Given the description of an element on the screen output the (x, y) to click on. 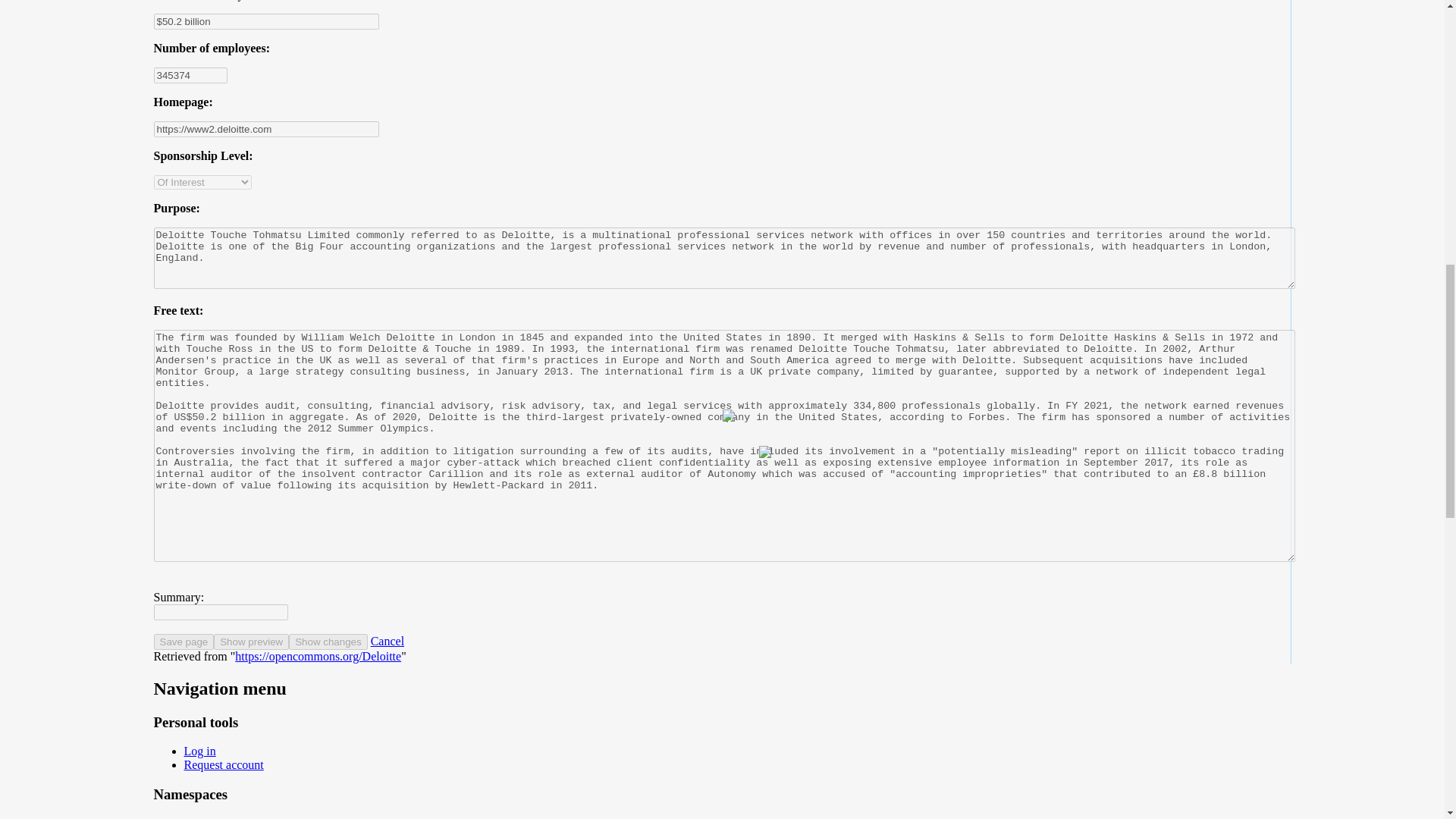
Show preview (251, 641)
345374 (189, 75)
Show changes (327, 641)
Log in (199, 750)
Cancel (387, 640)
Request account (223, 764)
Page (194, 818)
Save page (183, 641)
